Given the description of an element on the screen output the (x, y) to click on. 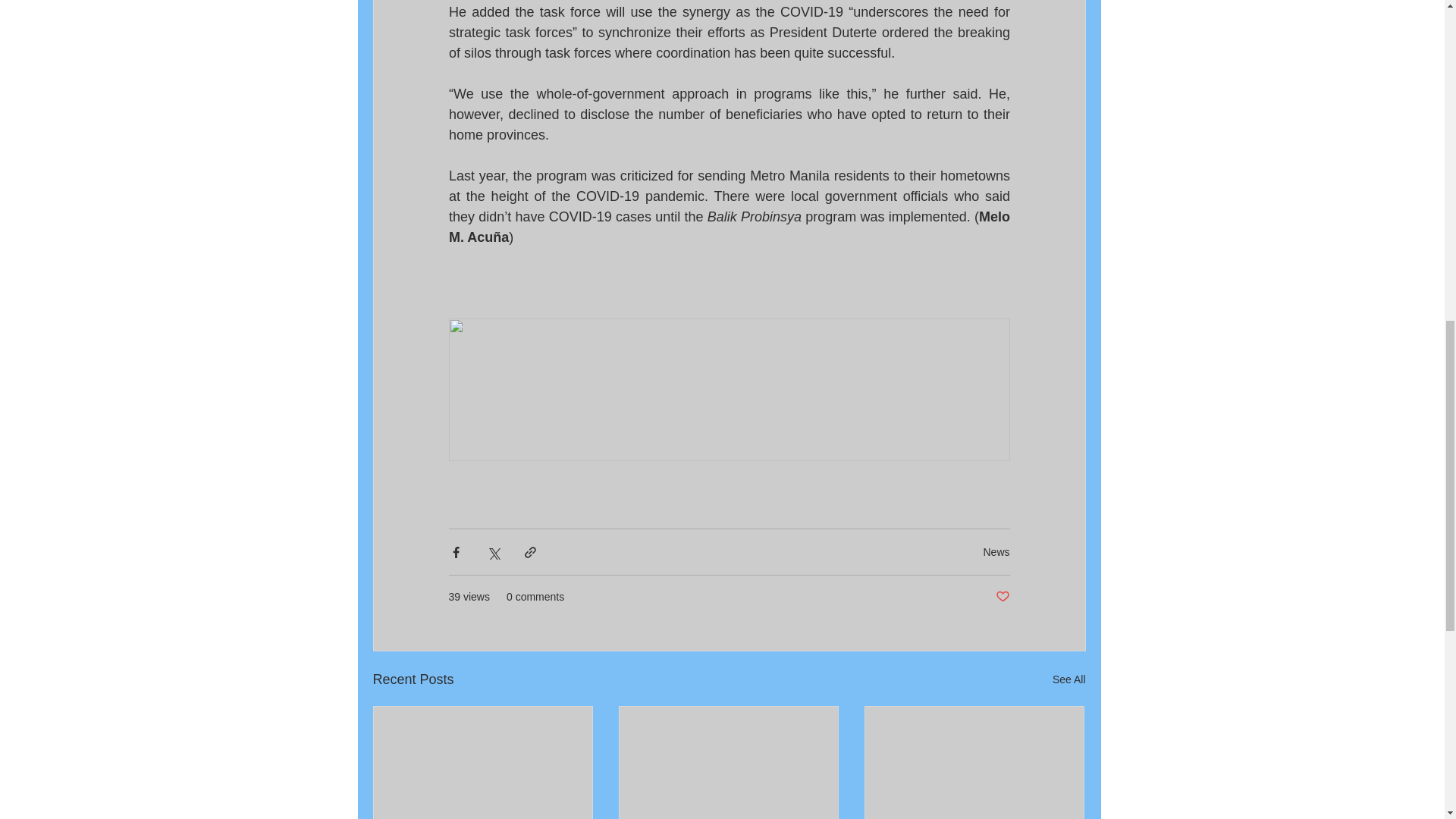
News (995, 551)
See All (1069, 680)
Post not marked as liked (1001, 596)
